Given the description of an element on the screen output the (x, y) to click on. 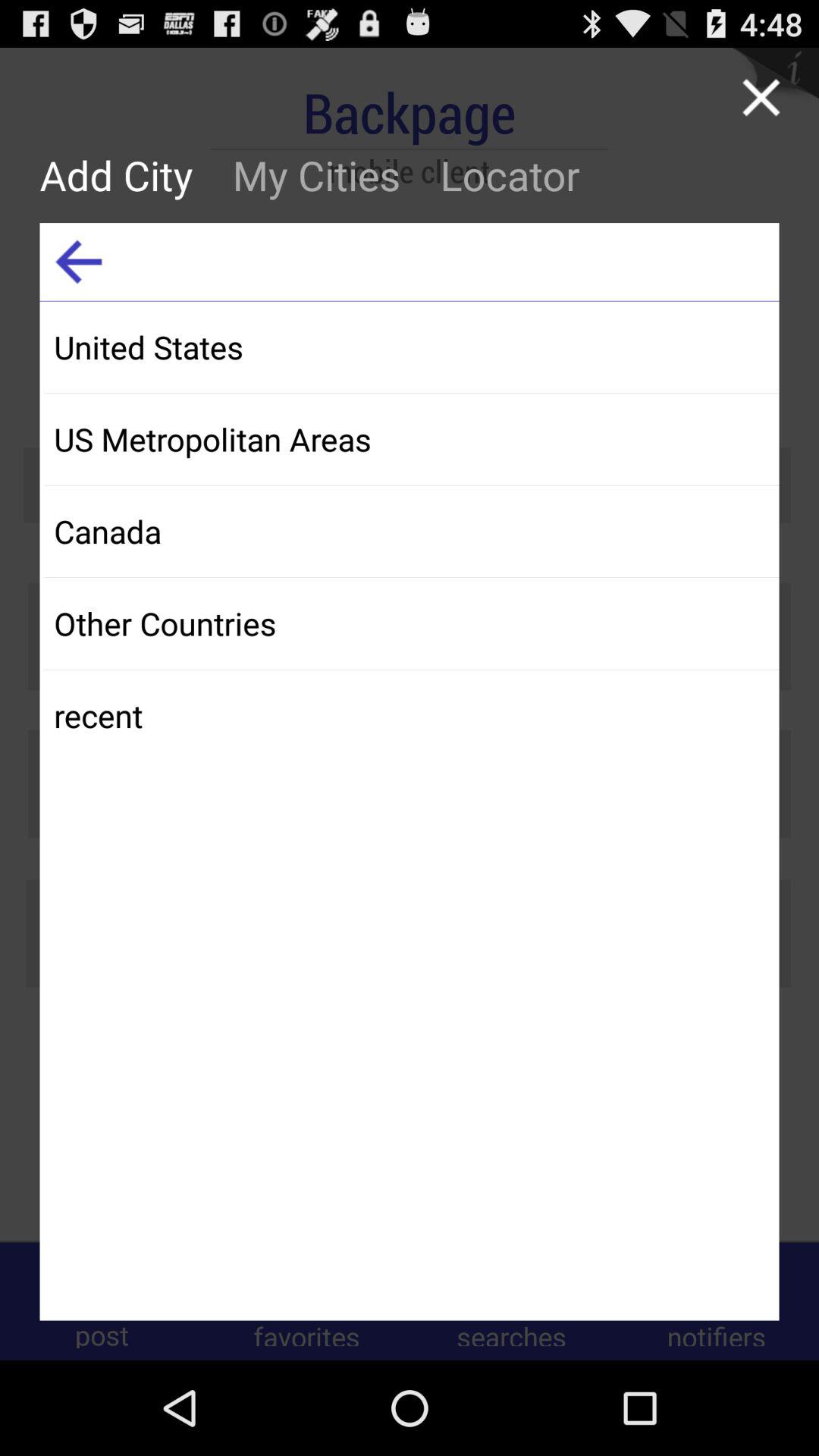
select button next to the my cities item (125, 174)
